Given the description of an element on the screen output the (x, y) to click on. 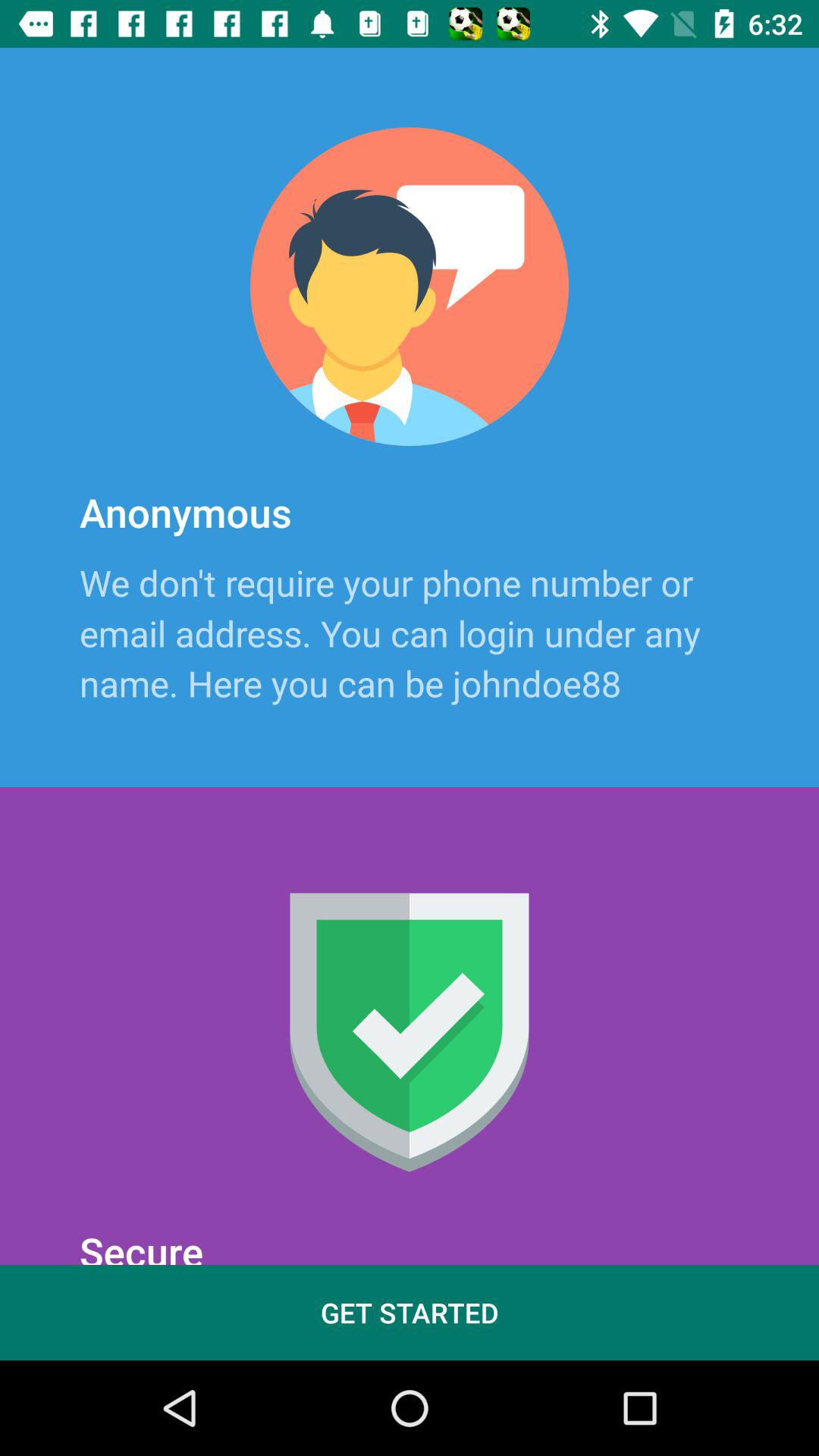
swipe until get started icon (409, 1312)
